Given the description of an element on the screen output the (x, y) to click on. 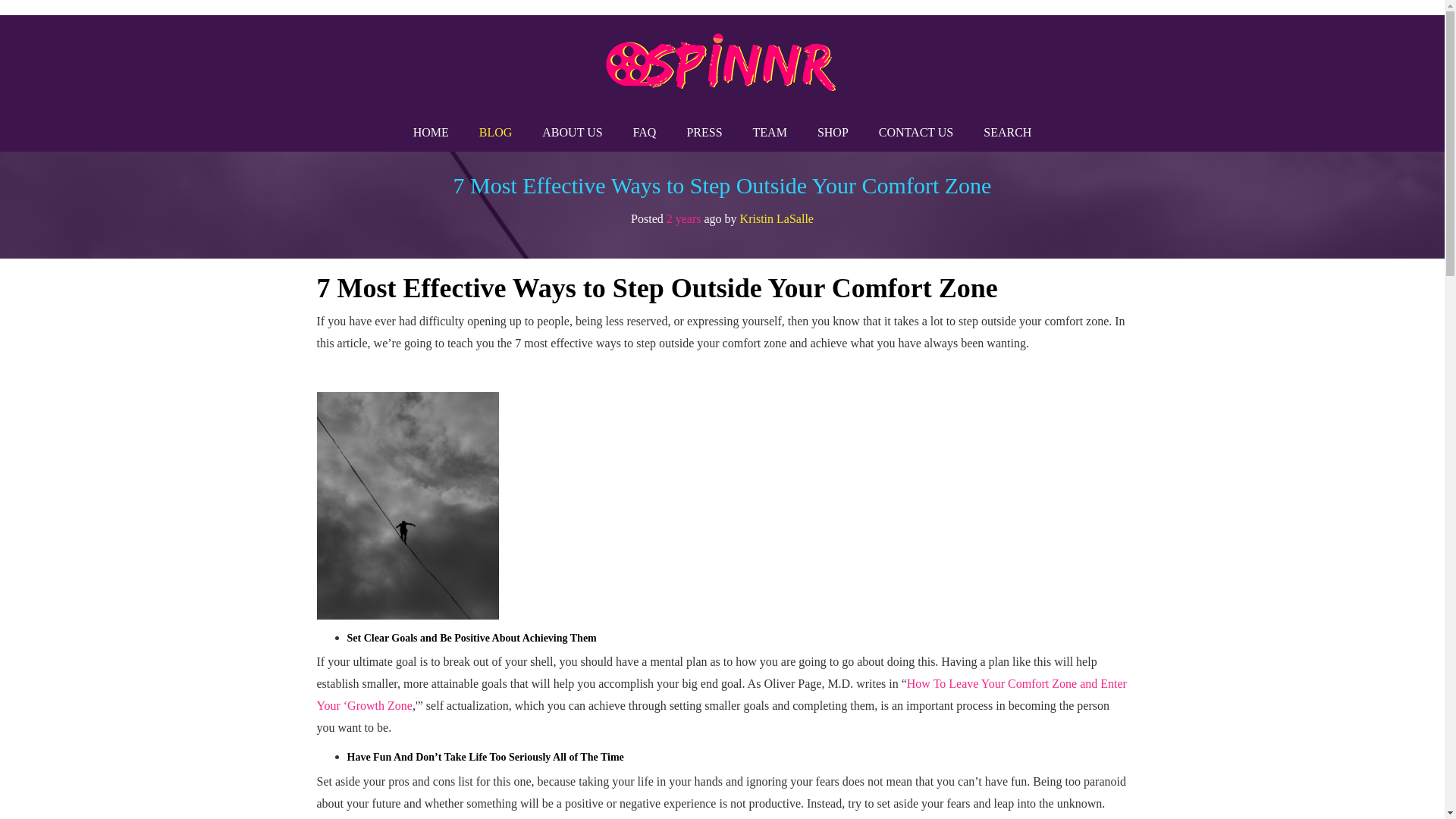
SEARCH (1007, 132)
HOME (430, 132)
CONTACT US (915, 132)
PRESS (703, 132)
ABOUT US (572, 132)
Kristin LaSalle (776, 218)
BLOG (495, 132)
SHOP (832, 132)
FAQ (644, 132)
2 years (683, 218)
TEAM (770, 132)
